Given the description of an element on the screen output the (x, y) to click on. 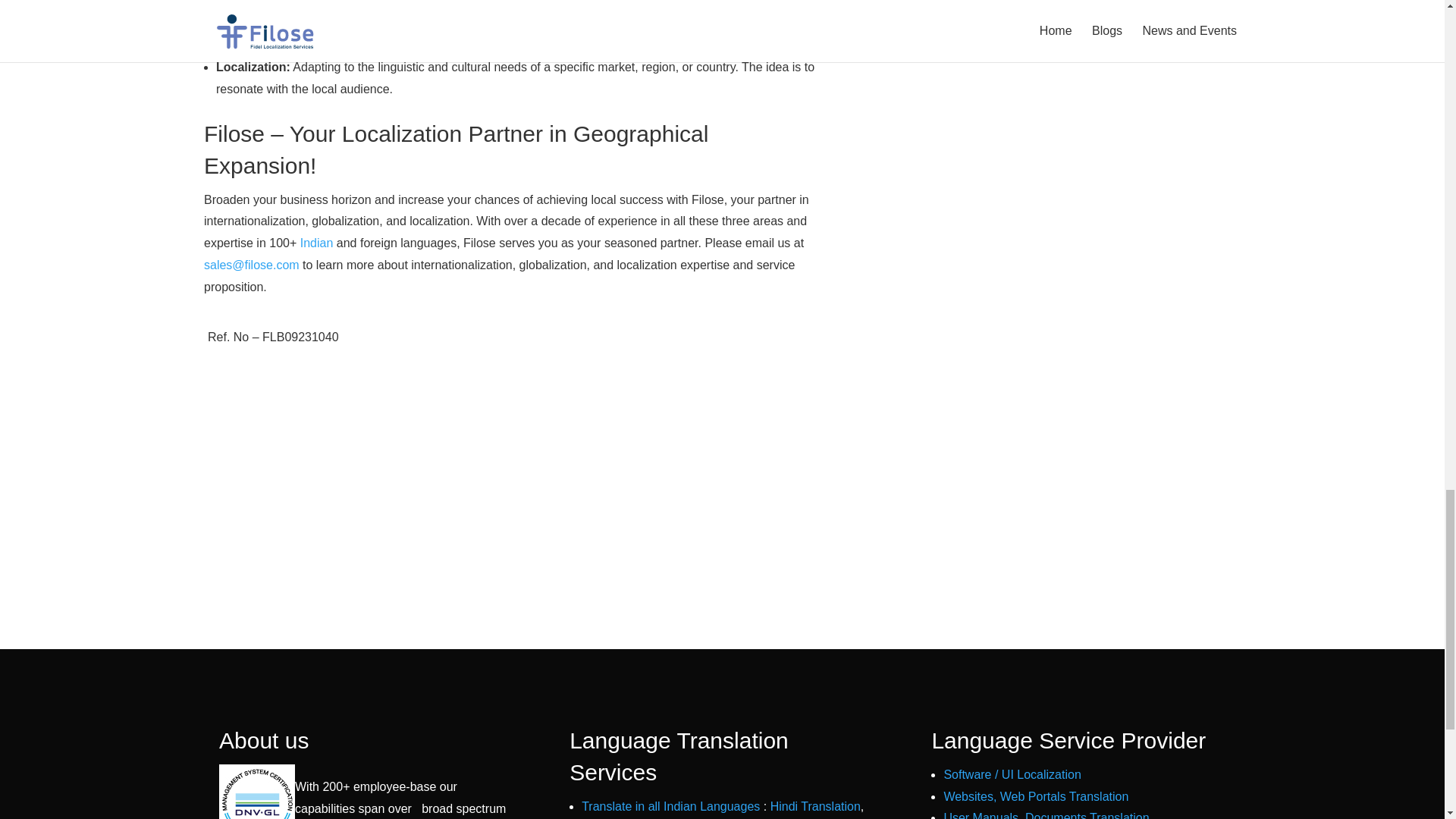
Websites, Web Portals Translation (1035, 796)
Hindi Translation (815, 806)
Indian (316, 242)
Translate in all Indian Languages (670, 806)
User Manuals (980, 815)
Documents Translation (1087, 815)
